Given the description of an element on the screen output the (x, y) to click on. 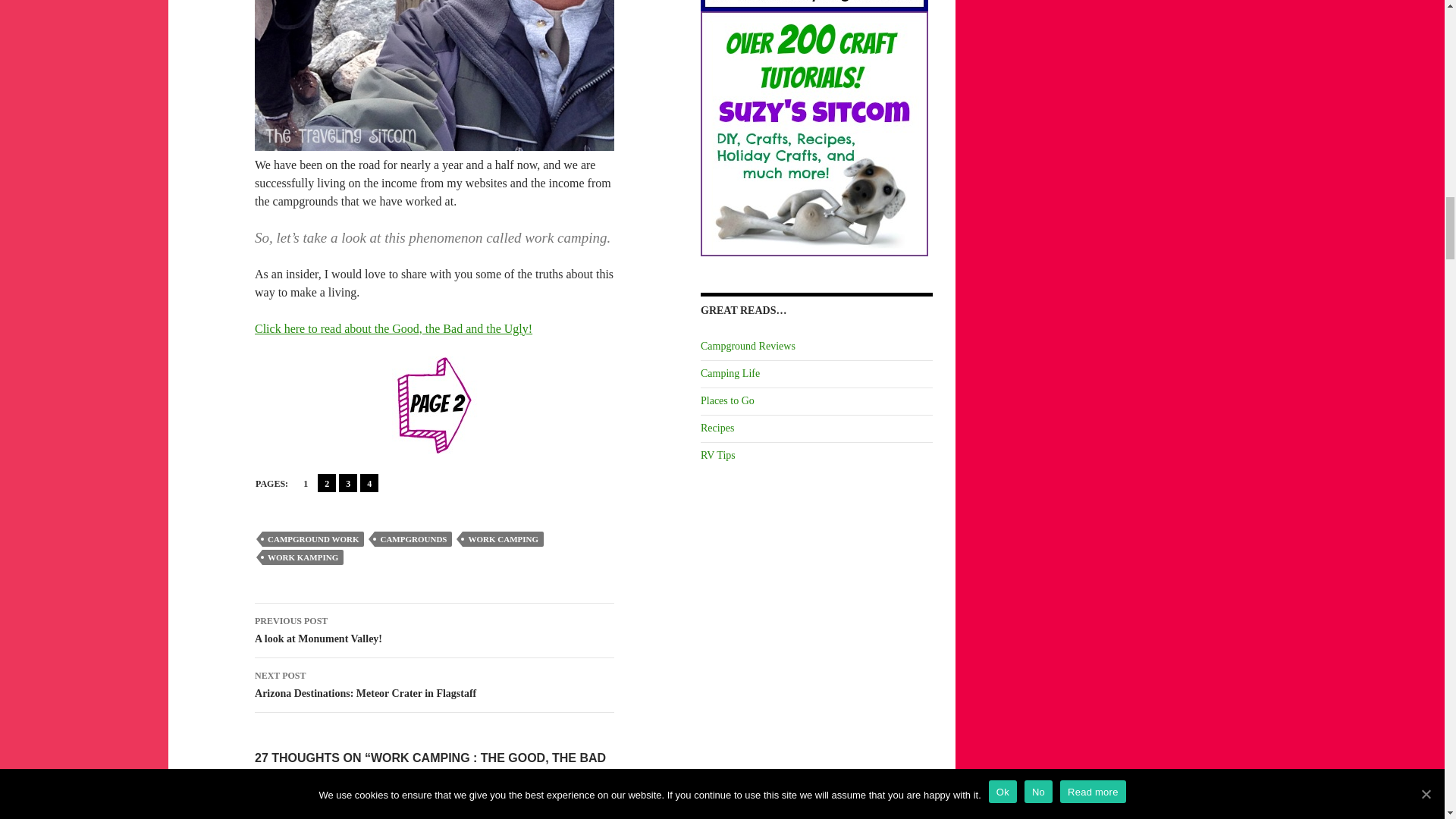
CAMPGROUND WORK (434, 630)
CAMPGROUNDS (313, 539)
Click here to read about the Good, the Bad and the Ugly! (412, 539)
WORK CAMPING (393, 328)
2 (503, 539)
3 (326, 483)
Grammy (347, 483)
WORK KAMPING (312, 817)
